Given the description of an element on the screen output the (x, y) to click on. 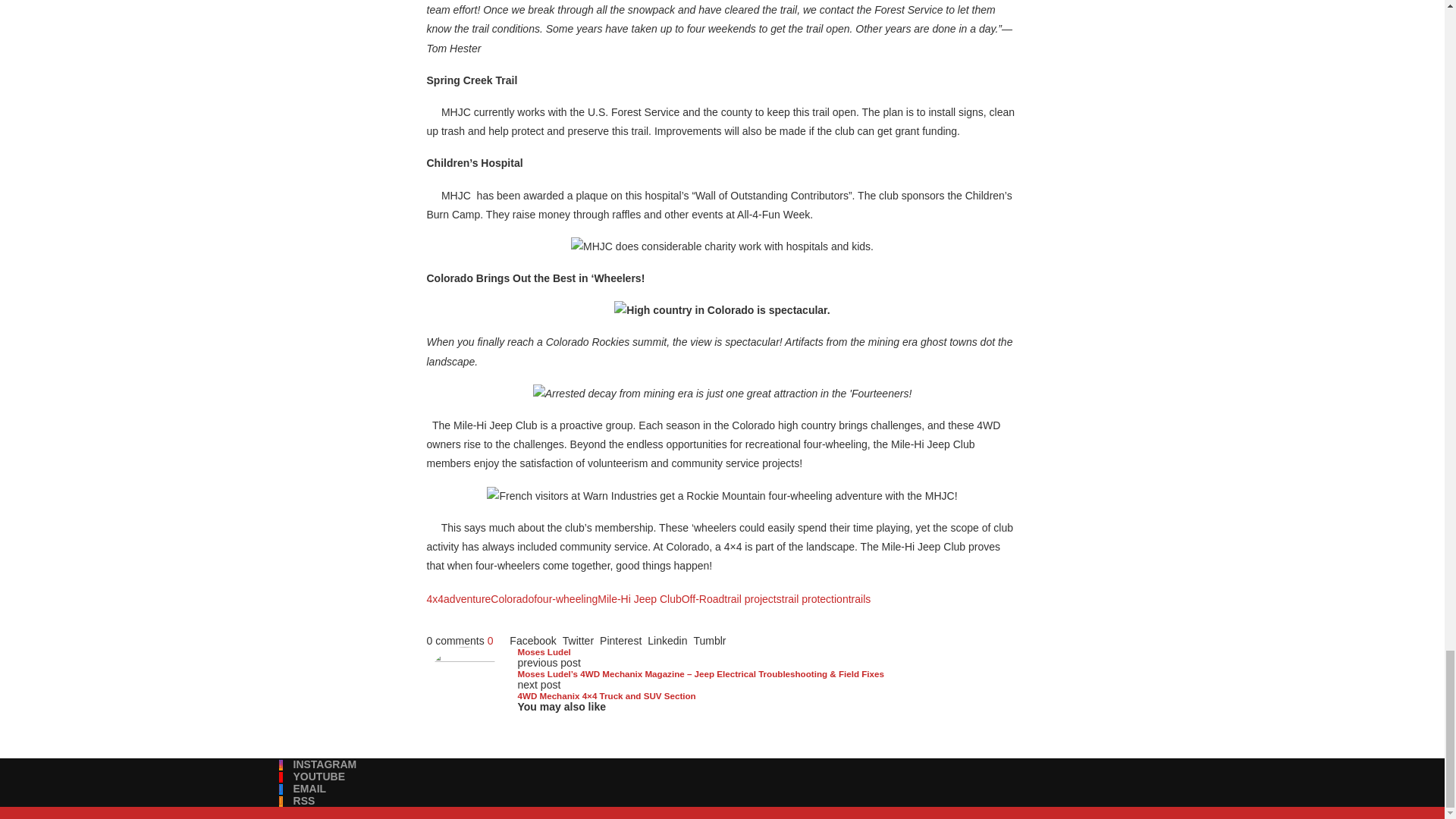
trail protection (814, 598)
Off-Road (703, 598)
trails (859, 598)
four-wheeling (565, 598)
Twitter (578, 640)
Moses Ludel (543, 651)
4x4 (435, 598)
Linkedin (667, 640)
Tumblr (709, 640)
Facebook (532, 640)
